Given the description of an element on the screen output the (x, y) to click on. 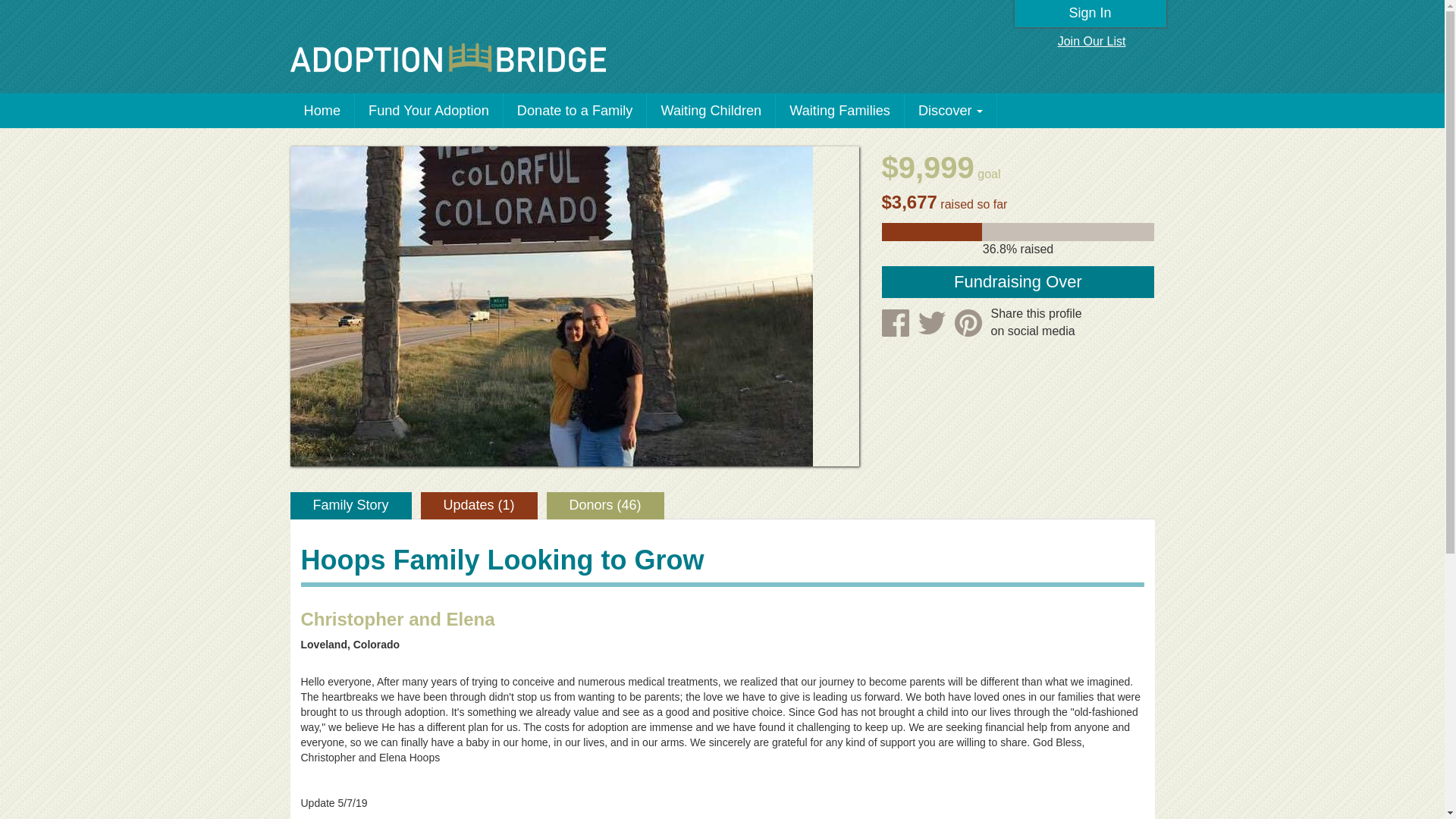
Join Our List (1091, 41)
Sign In (1090, 13)
Home (322, 110)
Discover (950, 110)
Family Story (349, 505)
Fund Your Adoption (429, 110)
Fundraising Over (1017, 281)
Waiting Children (711, 110)
Return to Home Page (447, 57)
Waiting Families (840, 110)
Donate to a Family (575, 110)
